Given the description of an element on the screen output the (x, y) to click on. 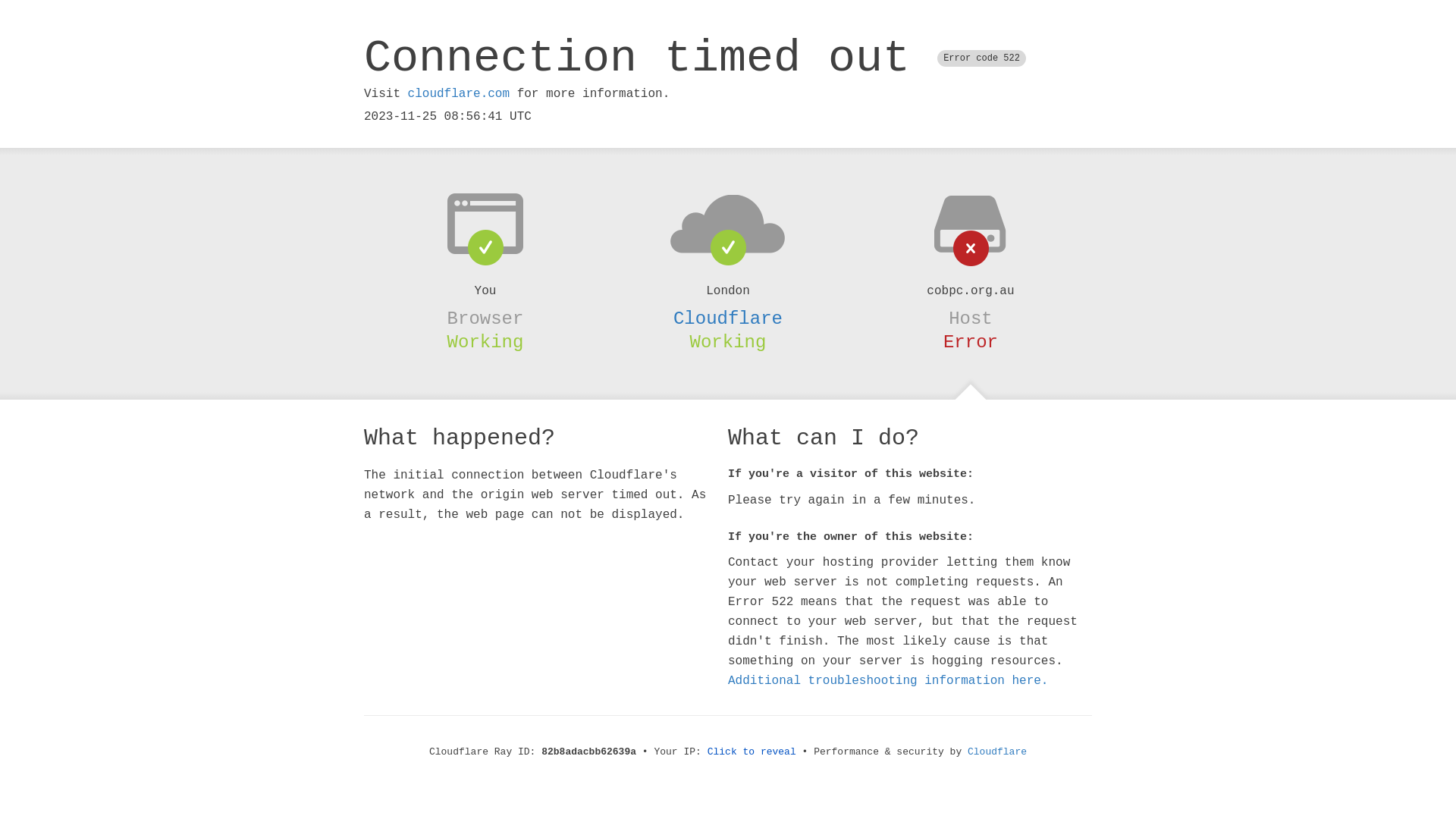
Cloudflare Element type: text (996, 751)
Cloudflare Element type: text (727, 318)
Additional troubleshooting information here. Element type: text (888, 680)
Click to reveal Element type: text (751, 751)
cloudflare.com Element type: text (458, 93)
